Given the description of an element on the screen output the (x, y) to click on. 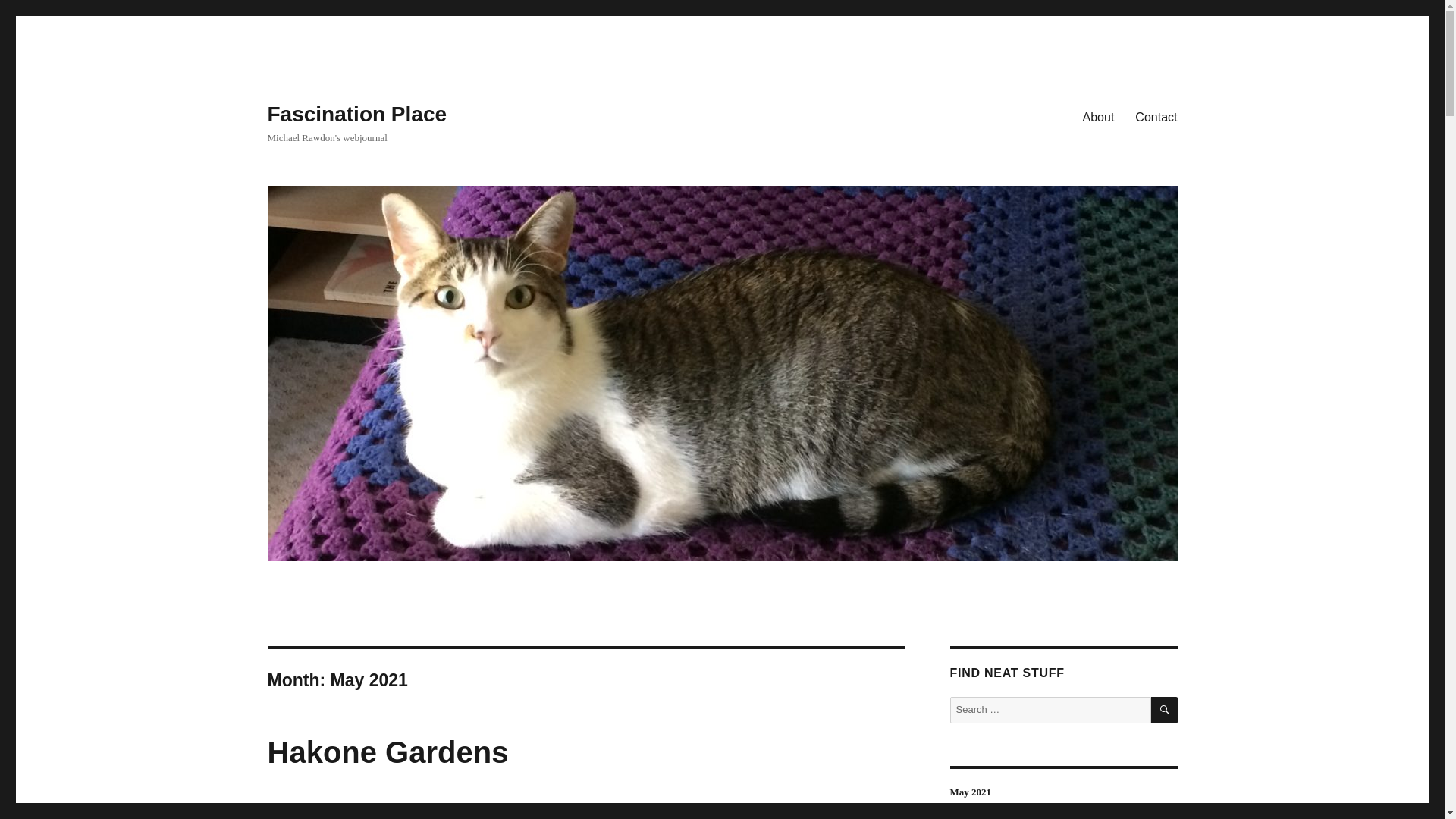
Fascination Place (356, 114)
About (1098, 116)
Hakone Gardens (387, 752)
Contact (1156, 116)
SEARCH (1164, 709)
14 May 2021 (294, 811)
